Given the description of an element on the screen output the (x, y) to click on. 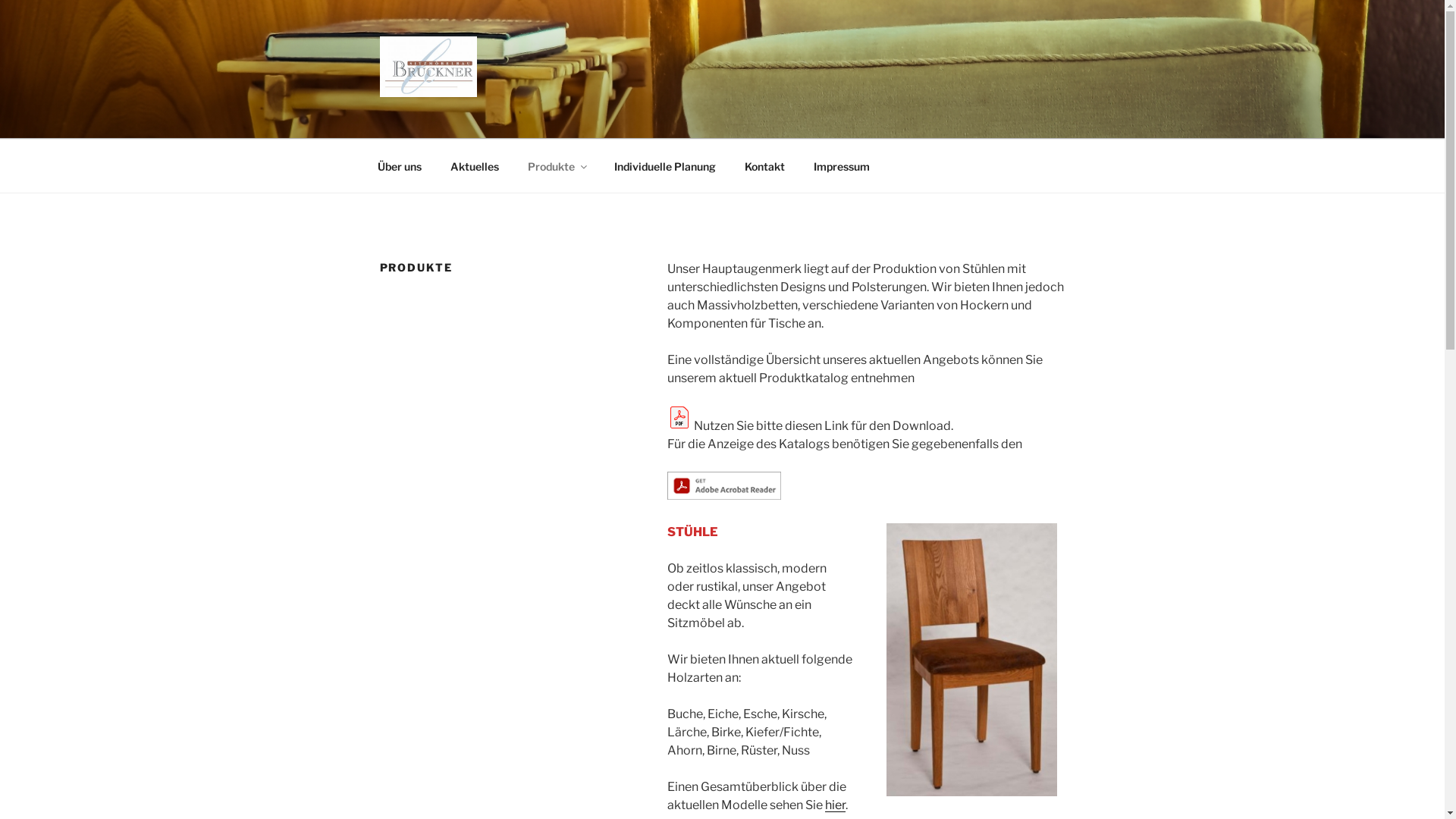
Impressum Element type: text (841, 165)
Produkte Element type: text (556, 165)
Individuelle Planung Element type: text (664, 165)
hier Element type: text (835, 804)
Aktuelles Element type: text (473, 165)
Kontakt Element type: text (764, 165)
